Given the description of an element on the screen output the (x, y) to click on. 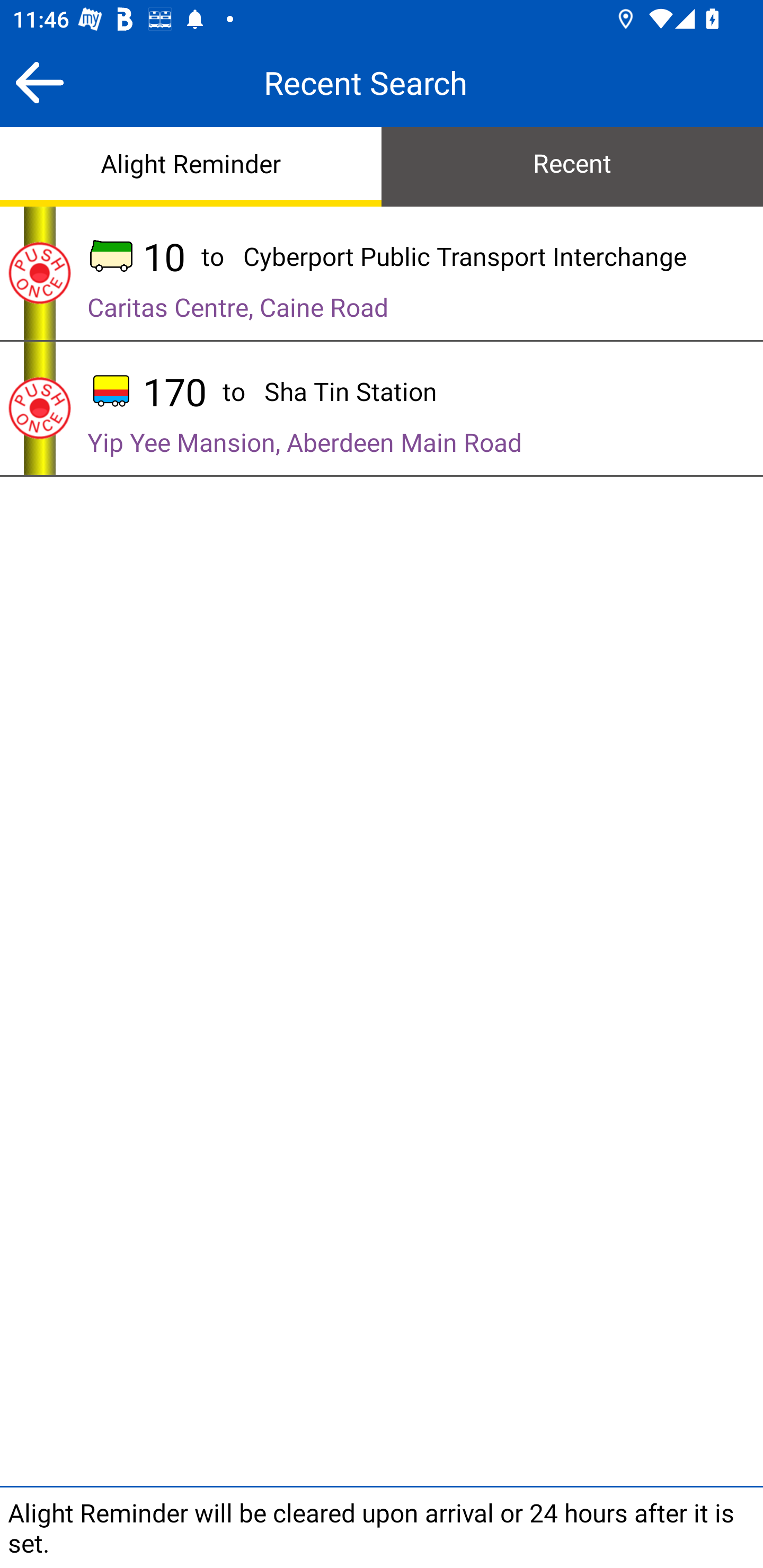
Back (39, 82)
Alight Reminder selected (190, 165)
Recent (572, 165)
